Given the description of an element on the screen output the (x, y) to click on. 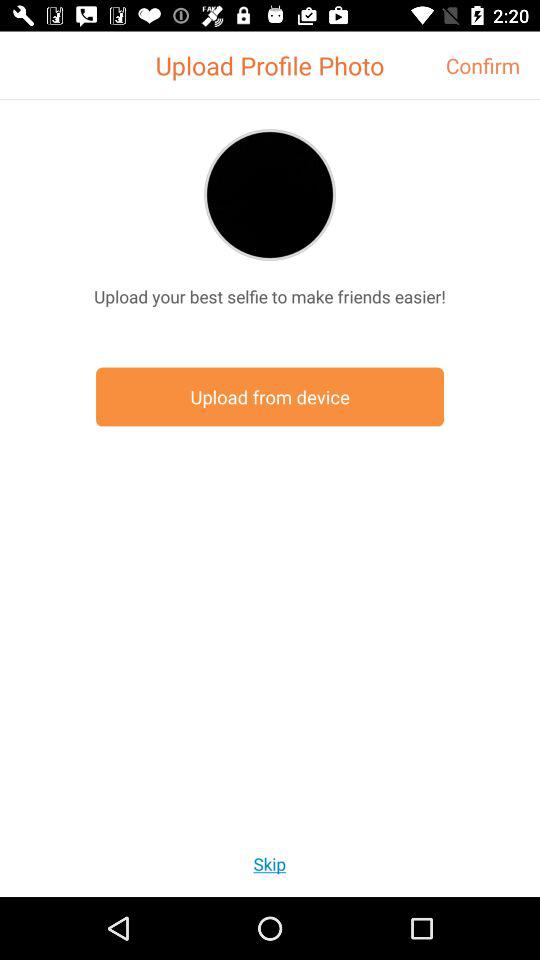
turn off the icon at the center (270, 396)
